Given the description of an element on the screen output the (x, y) to click on. 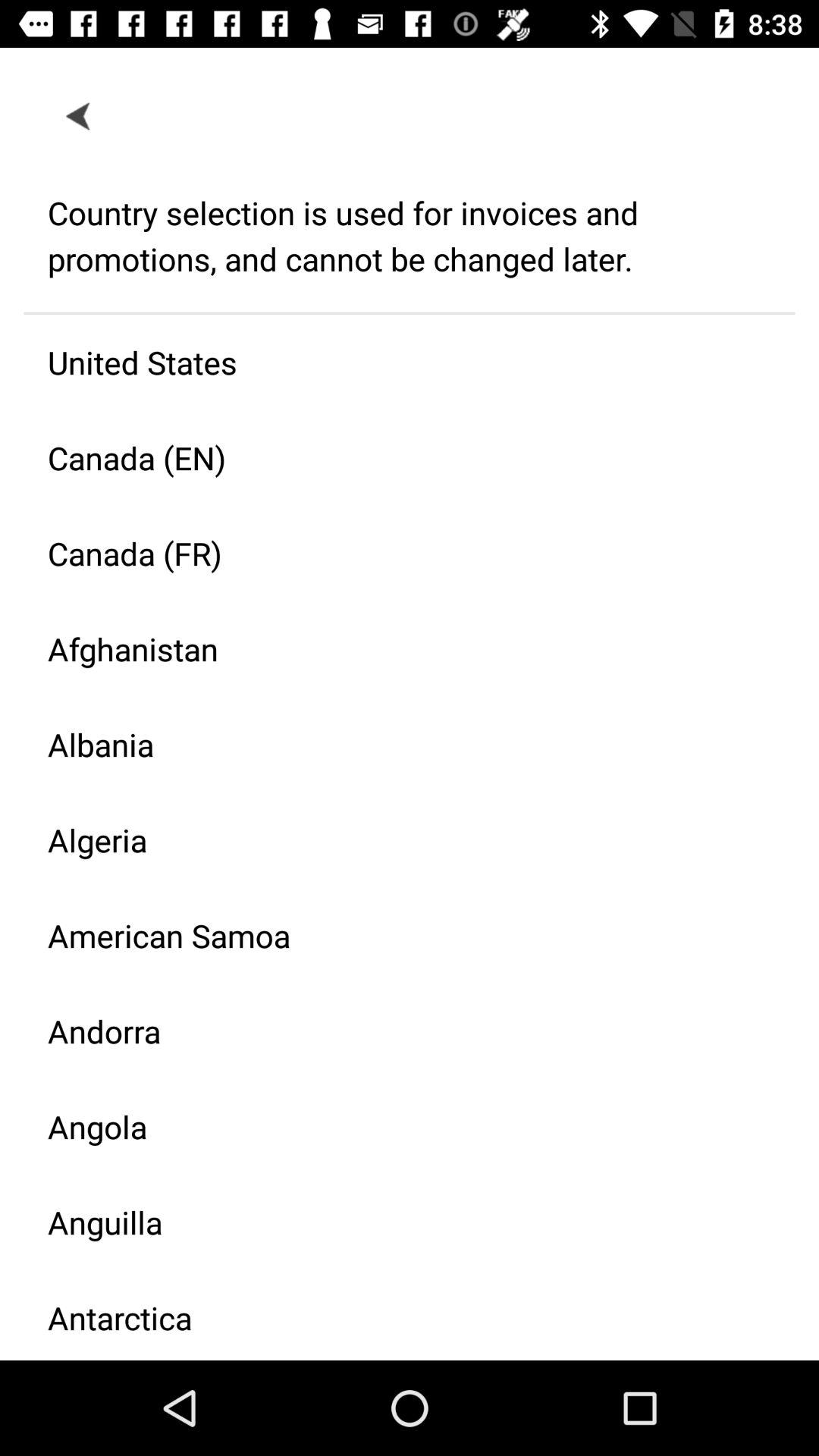
click the icon above the canada (en) icon (397, 361)
